Given the description of an element on the screen output the (x, y) to click on. 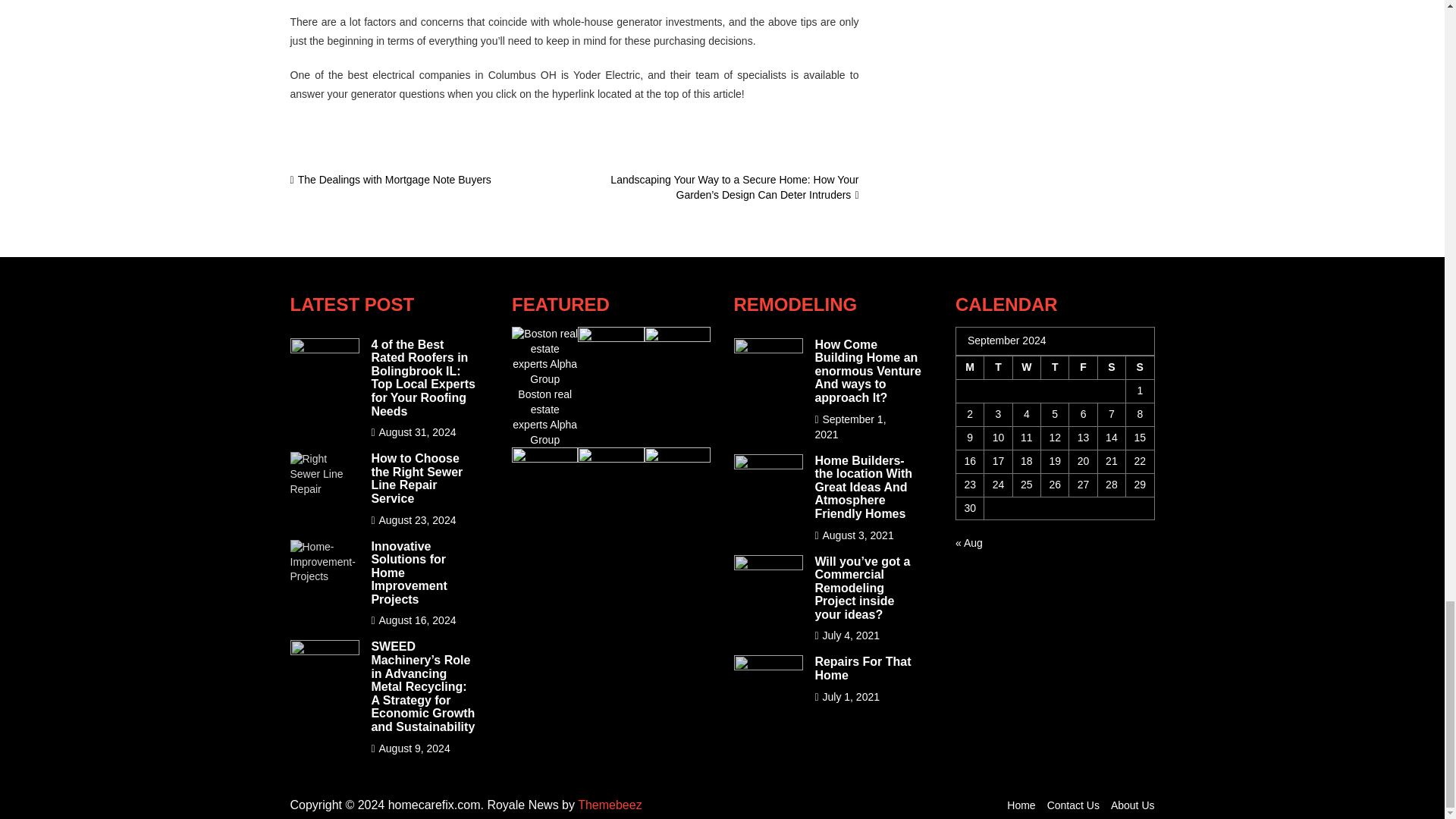
Sunday (1139, 367)
Monday (969, 367)
Thursday (1054, 367)
Wednesday (1026, 367)
Friday (1082, 367)
Tuesday (997, 367)
The Dealings with Mortgage Note Buyers (389, 179)
Saturday (1111, 367)
